Given the description of an element on the screen output the (x, y) to click on. 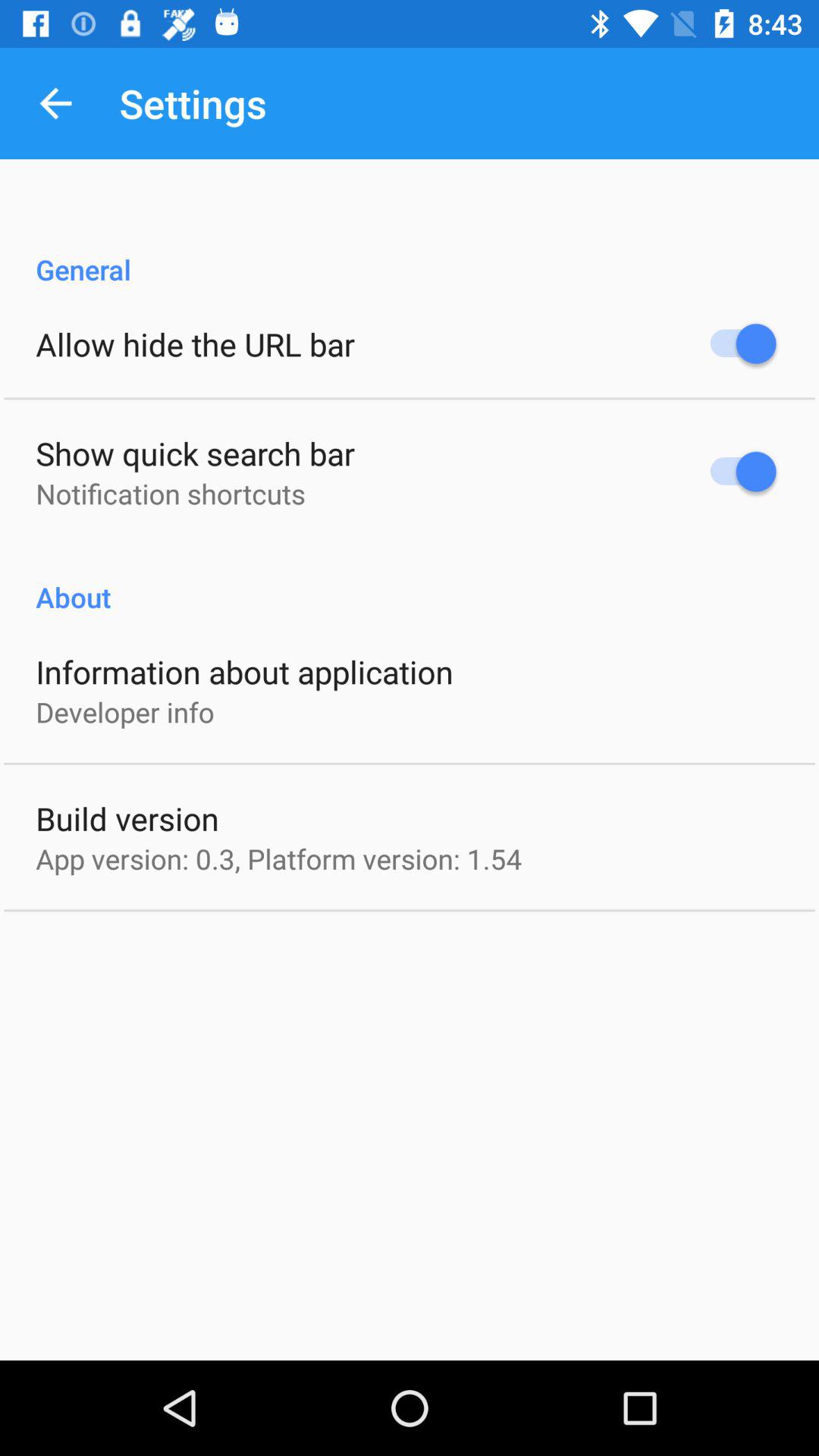
swipe to the build version (126, 818)
